Given the description of an element on the screen output the (x, y) to click on. 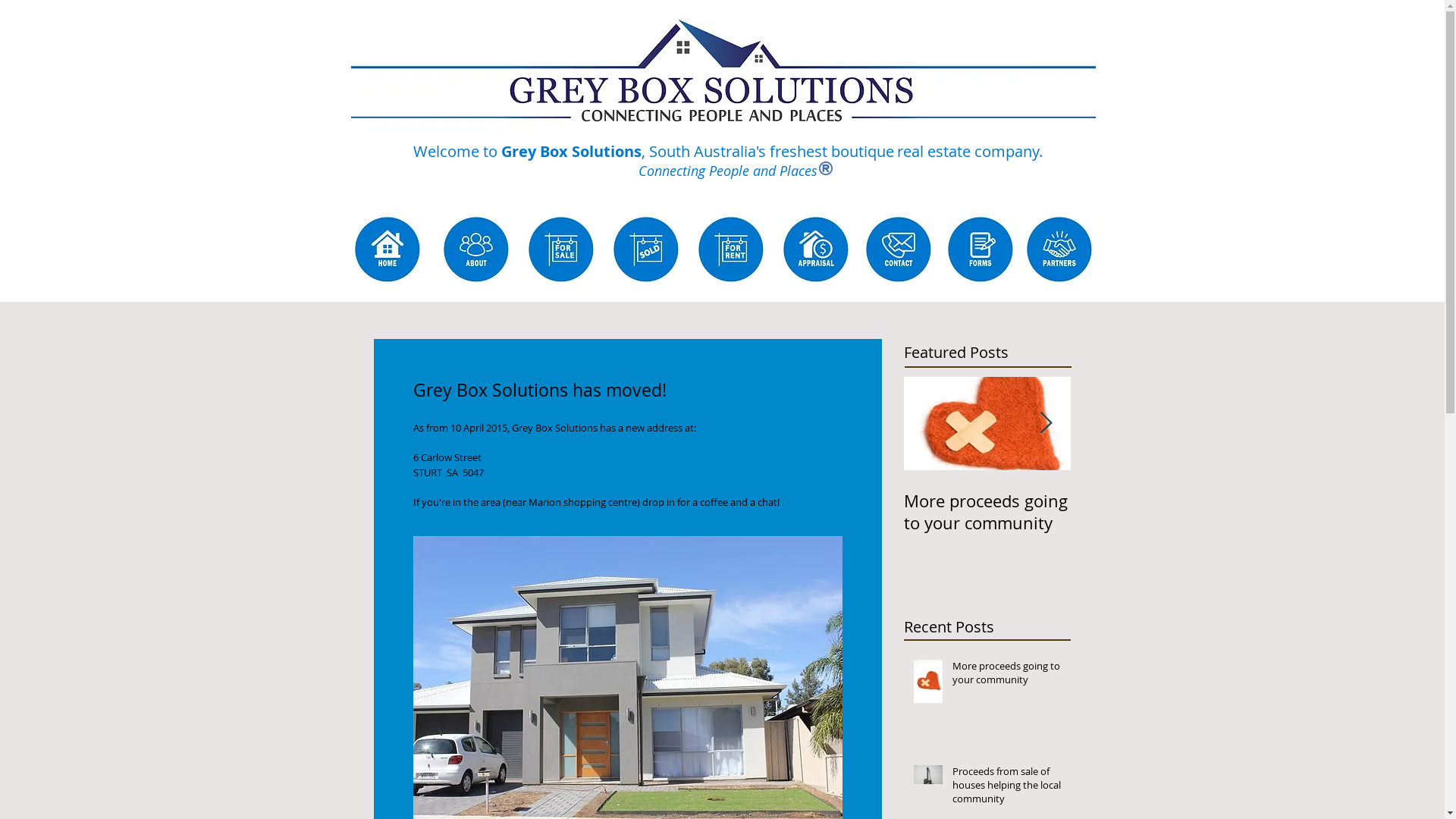
More proceeds going to your community Element type: text (1006, 675)
More proceeds going to your community Element type: text (986, 511)
$500 goes back to the community! Element type: text (1153, 511)
Proceeds from sale of houses helping the local community Element type: text (1006, 788)
Grey Box Solutions Element type: hover (722, 80)
